Given the description of an element on the screen output the (x, y) to click on. 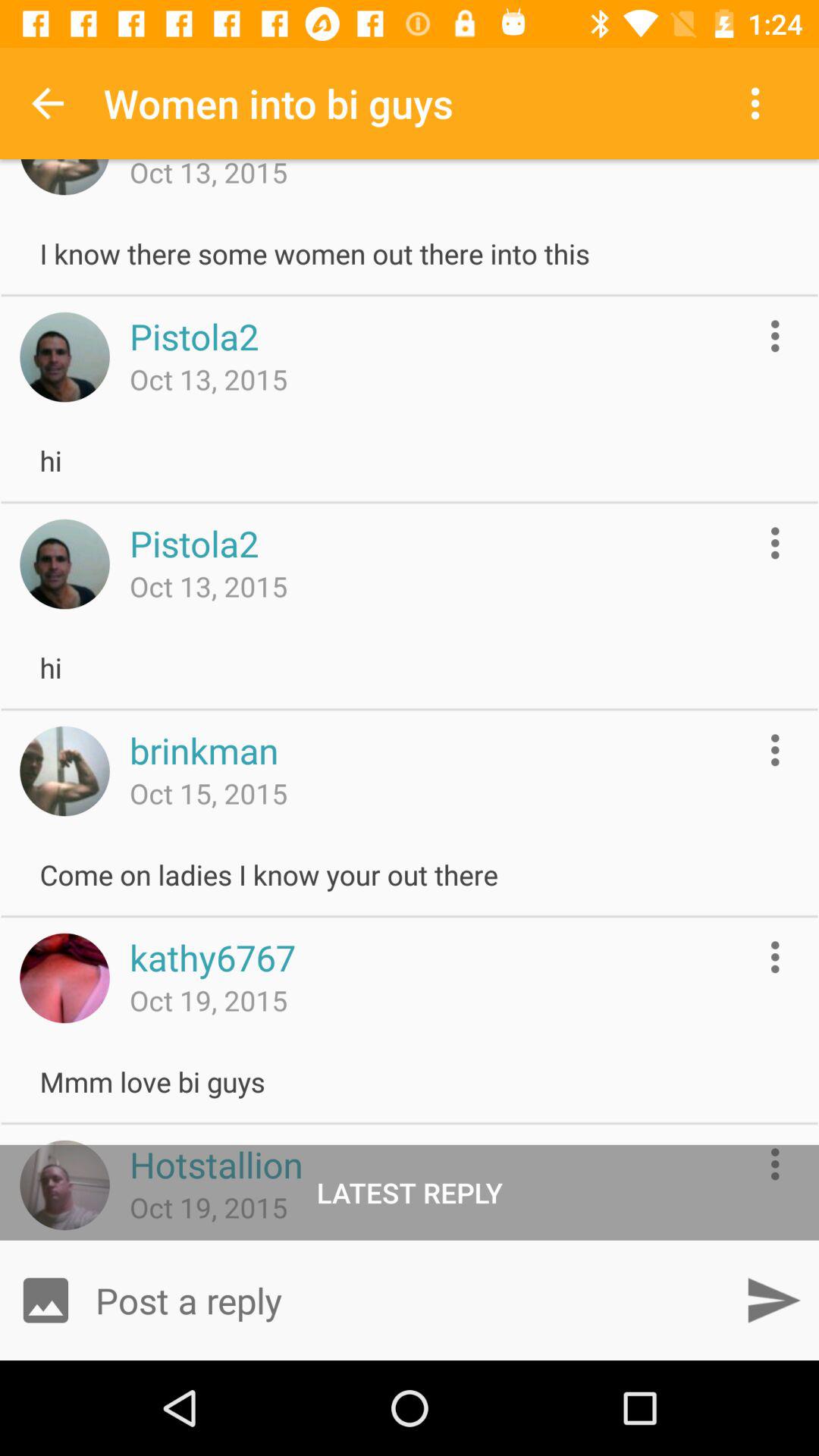
link to user profile (64, 771)
